Given the description of an element on the screen output the (x, y) to click on. 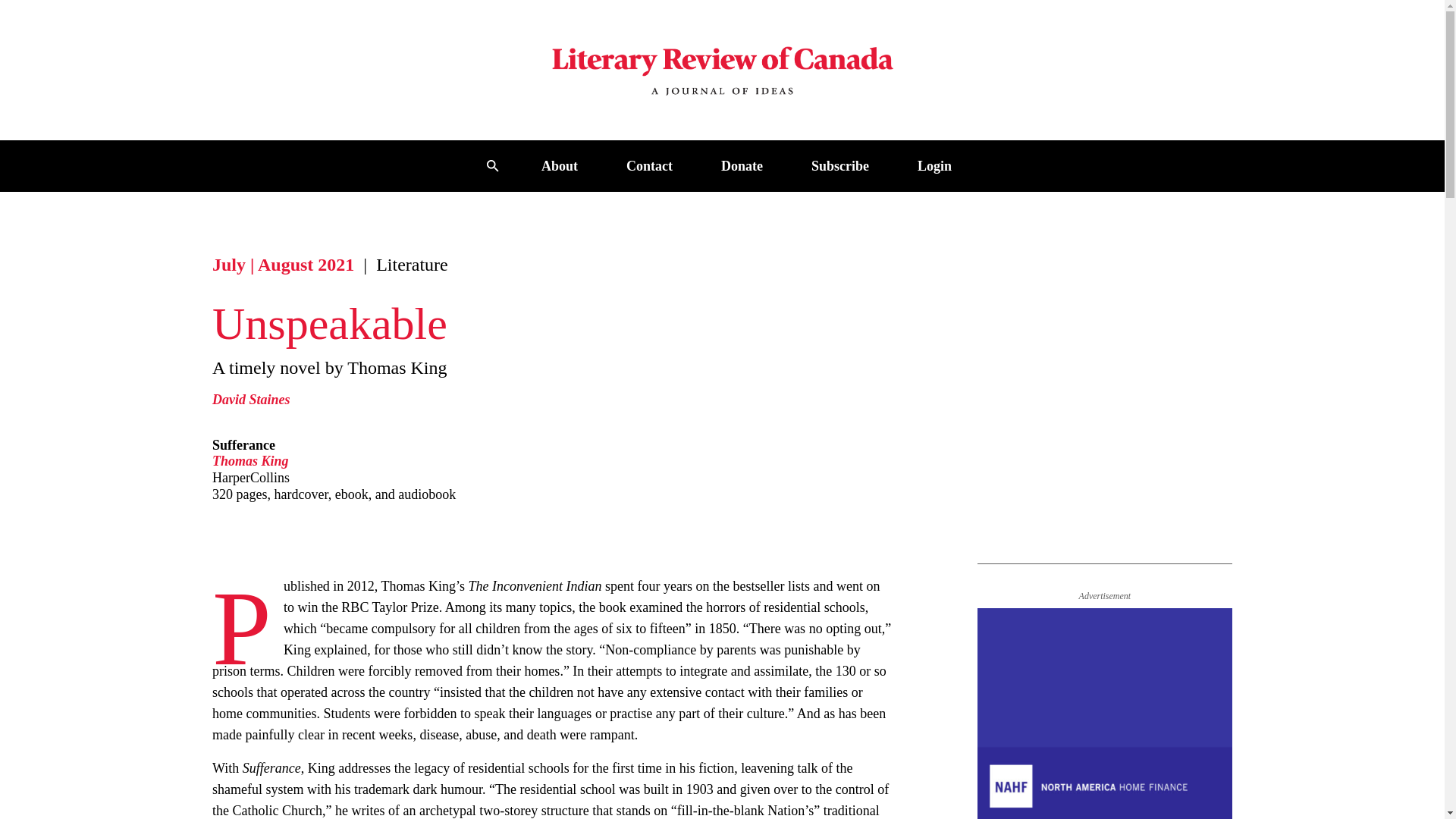
Login (934, 165)
About (559, 165)
Subscribe (840, 165)
Contact (649, 165)
David Staines (250, 399)
Donate (742, 165)
